Given the description of an element on the screen output the (x, y) to click on. 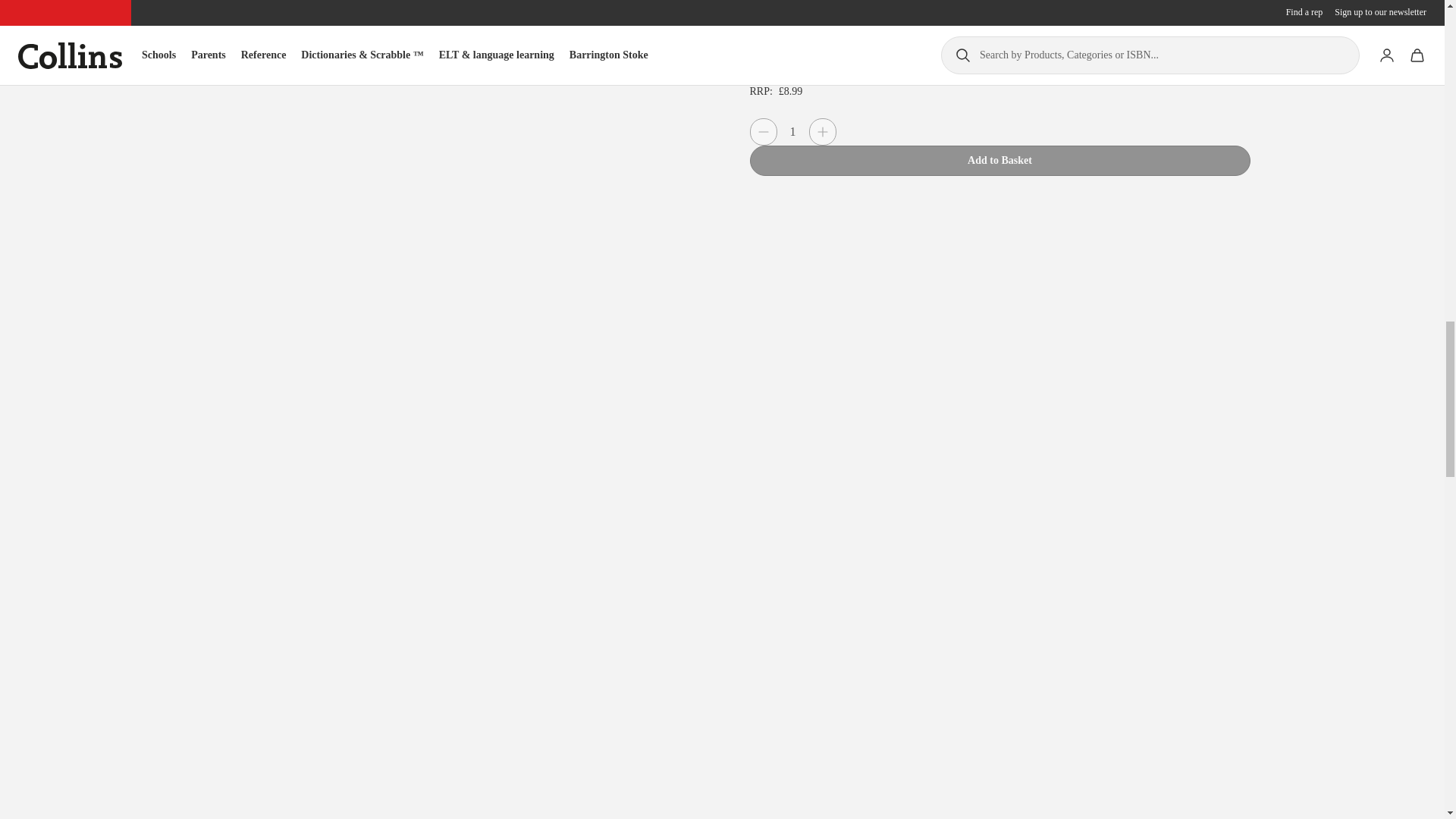
1 (791, 131)
Increase quantity (821, 131)
Decrease quantity (762, 131)
Add to Basket (999, 160)
